Given the description of an element on the screen output the (x, y) to click on. 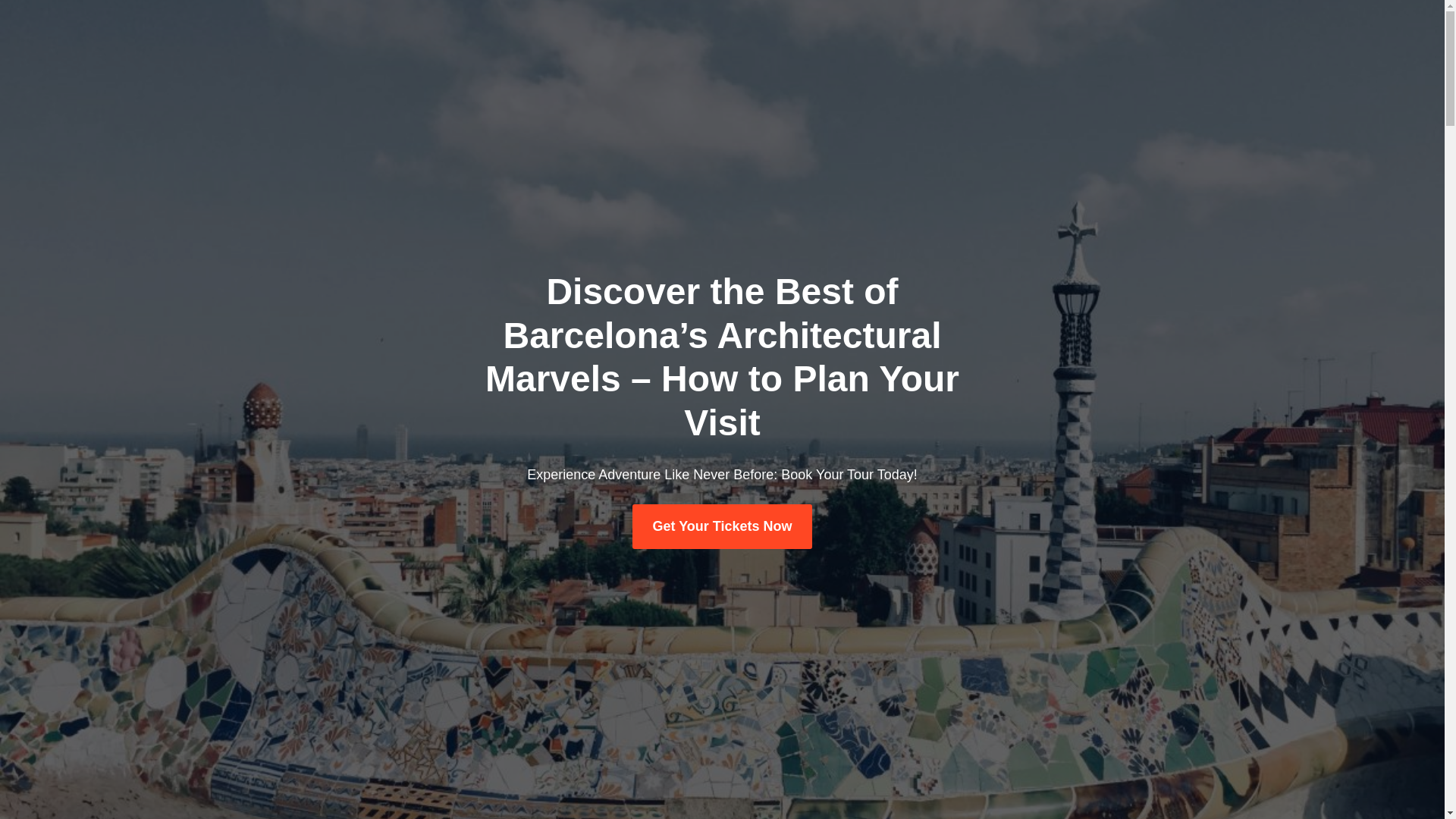
Get Your Tickets Now (720, 526)
